Given the description of an element on the screen output the (x, y) to click on. 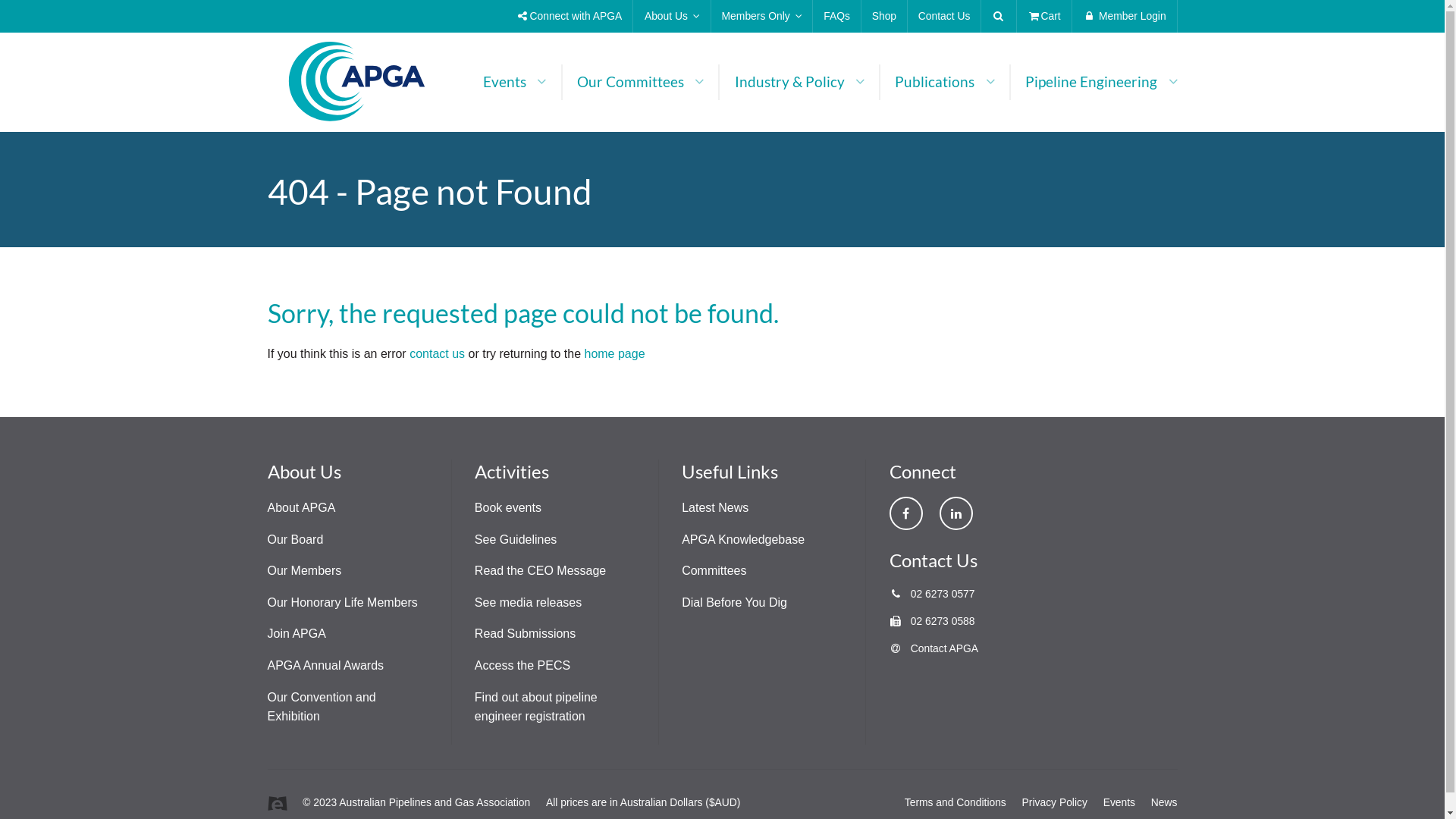
Read the CEO Message Element type: text (539, 570)
home page Element type: text (613, 353)
Contact APGA Element type: text (933, 648)
Member Login Element type: text (1124, 16)
 Connect with APGA Element type: text (569, 16)
Industry & Policy Element type: text (798, 81)
APGA Knowledgebase Element type: text (742, 539)
Dial Before You Dig Element type: text (734, 602)
Members Only Element type: text (761, 16)
News Element type: text (1164, 802)
Shop Element type: text (883, 16)
See Guidelines Element type: text (515, 539)
Privacy Policy Element type: text (1054, 802)
Our Honorary Life Members Element type: text (341, 602)
Find out about pipeline engineer registration Element type: text (535, 706)
Publications Element type: text (944, 81)
Read Submissions Element type: text (524, 633)
Contact Us Element type: text (943, 16)
Access the PECS Element type: text (522, 664)
About Us Element type: text (671, 16)
Our Committees Element type: text (640, 81)
Our Convention and Exhibition Element type: text (320, 706)
contact us Element type: text (436, 353)
Our Board Element type: text (294, 539)
About APGA Element type: text (300, 507)
Latest News Element type: text (714, 507)
Events Element type: text (1119, 802)
Pipeline Engineering Element type: text (1093, 81)
Committees Element type: text (713, 570)
APGA Annual Awards Element type: text (324, 664)
Book events Element type: text (507, 507)
02 6273 0588 Element type: text (931, 621)
Cart Element type: text (1043, 16)
Terms and Conditions Element type: text (955, 802)
Our Members Element type: text (303, 570)
Events Element type: text (514, 81)
Join APGA Element type: text (295, 633)
FAQs Element type: text (835, 16)
02 6273 0577 Element type: text (931, 593)
See media releases Element type: text (527, 602)
